Given the description of an element on the screen output the (x, y) to click on. 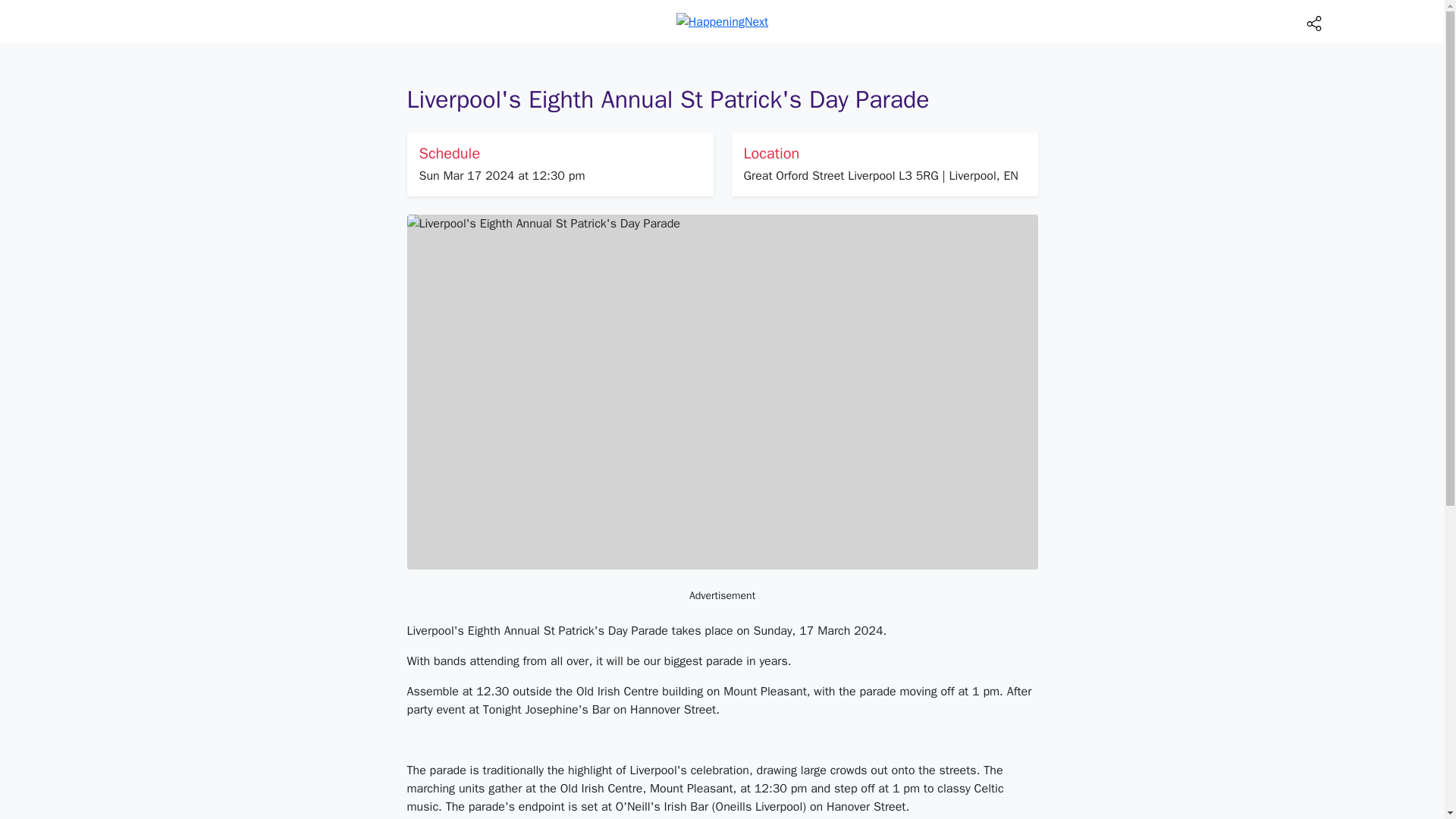
HappeningNext Home (721, 20)
